Given the description of an element on the screen output the (x, y) to click on. 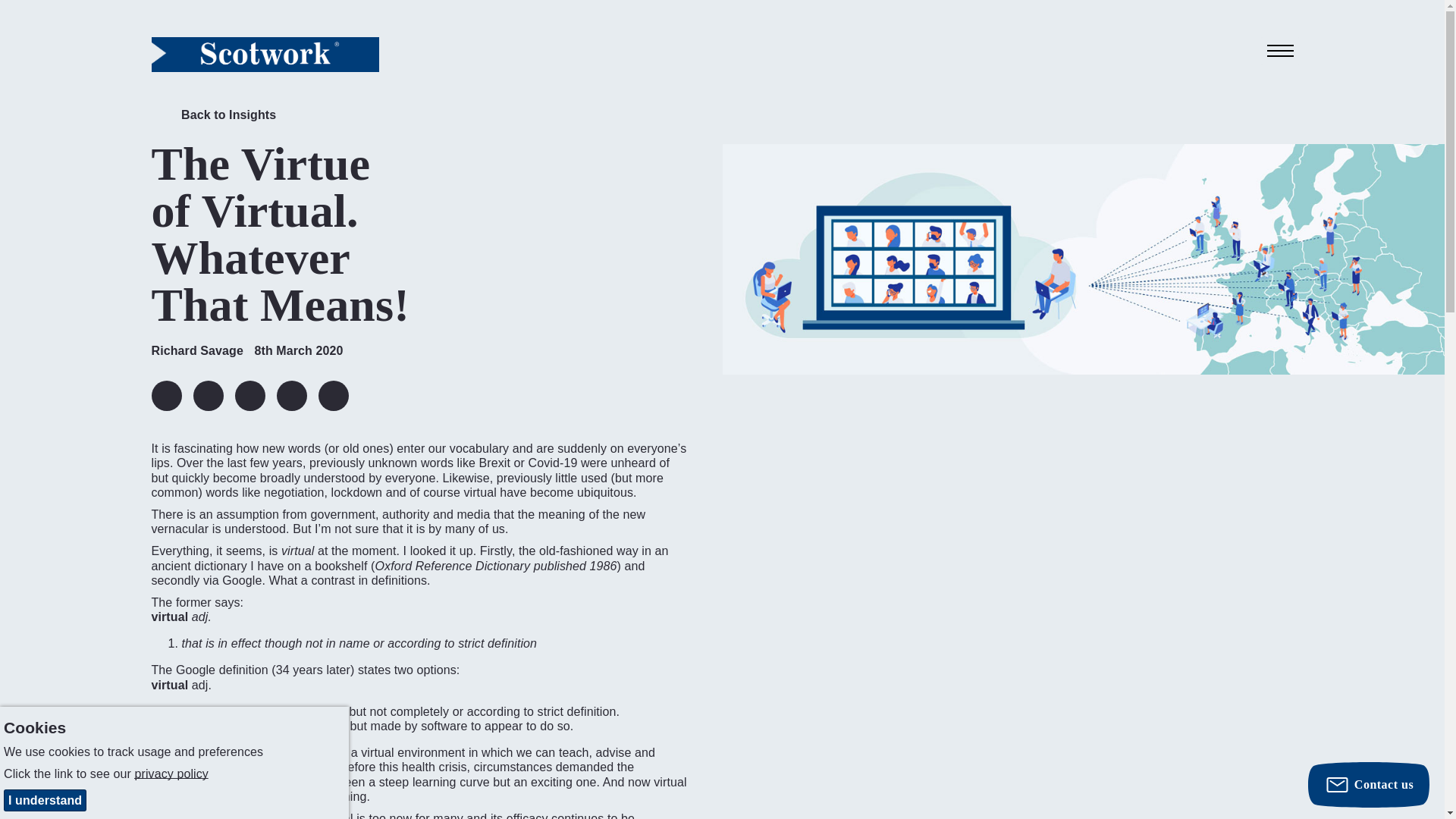
linkedin (166, 395)
twitter (207, 395)
Back to Insights (213, 117)
rss (333, 395)
googleplus (290, 395)
home (264, 54)
facebook (249, 395)
negotiation (293, 492)
Back to Insights (213, 117)
